Given the description of an element on the screen output the (x, y) to click on. 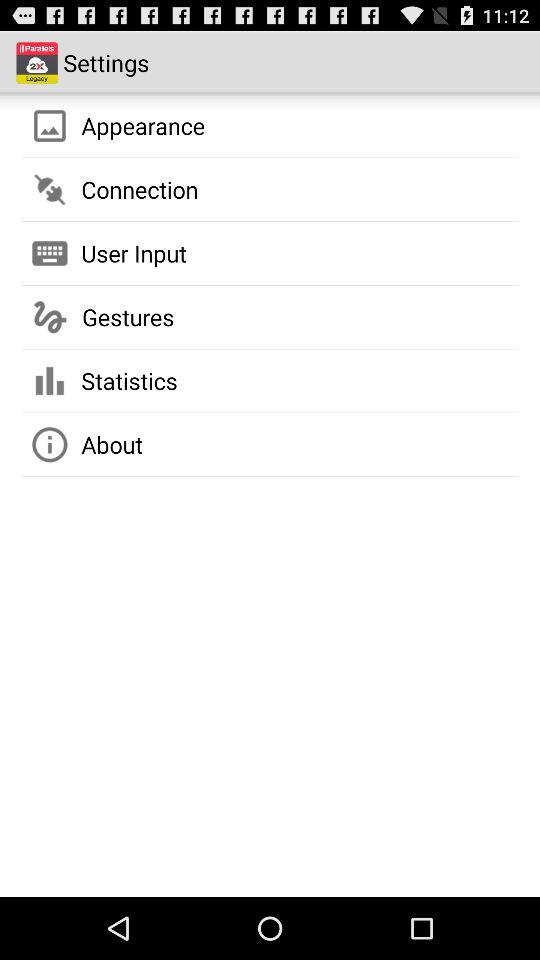
tap the icon below settings icon (143, 125)
